Given the description of an element on the screen output the (x, y) to click on. 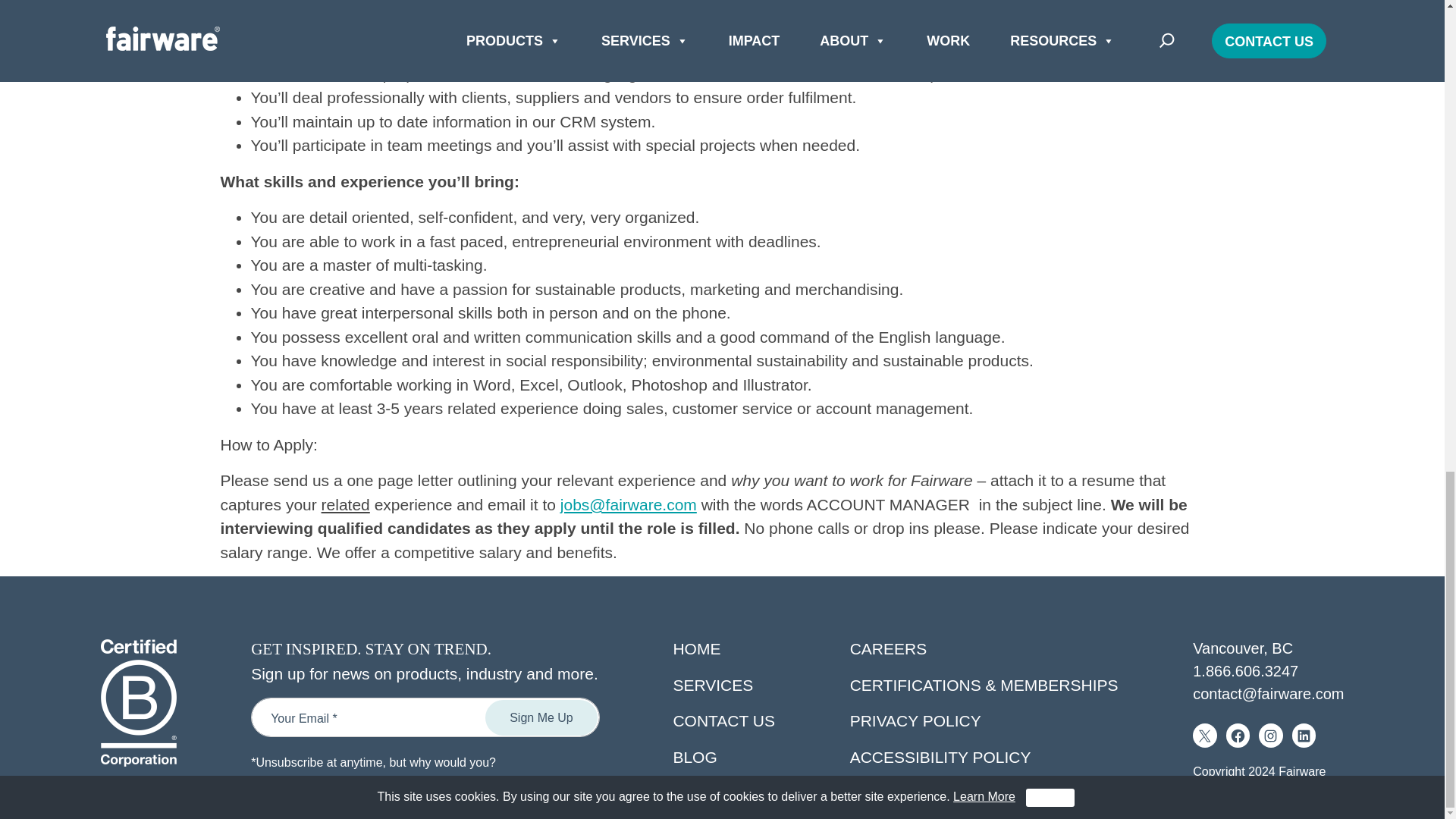
BLOG (694, 756)
ACCESSIBILITY POLICY (940, 756)
CONTACT US (723, 720)
CAREERS (888, 648)
HOME (696, 648)
PRIVACY POLICY (915, 720)
1.866.606.3247 (1245, 670)
SERVICES (712, 684)
Sign Me Up (540, 717)
Sign Me Up (540, 717)
